Given the description of an element on the screen output the (x, y) to click on. 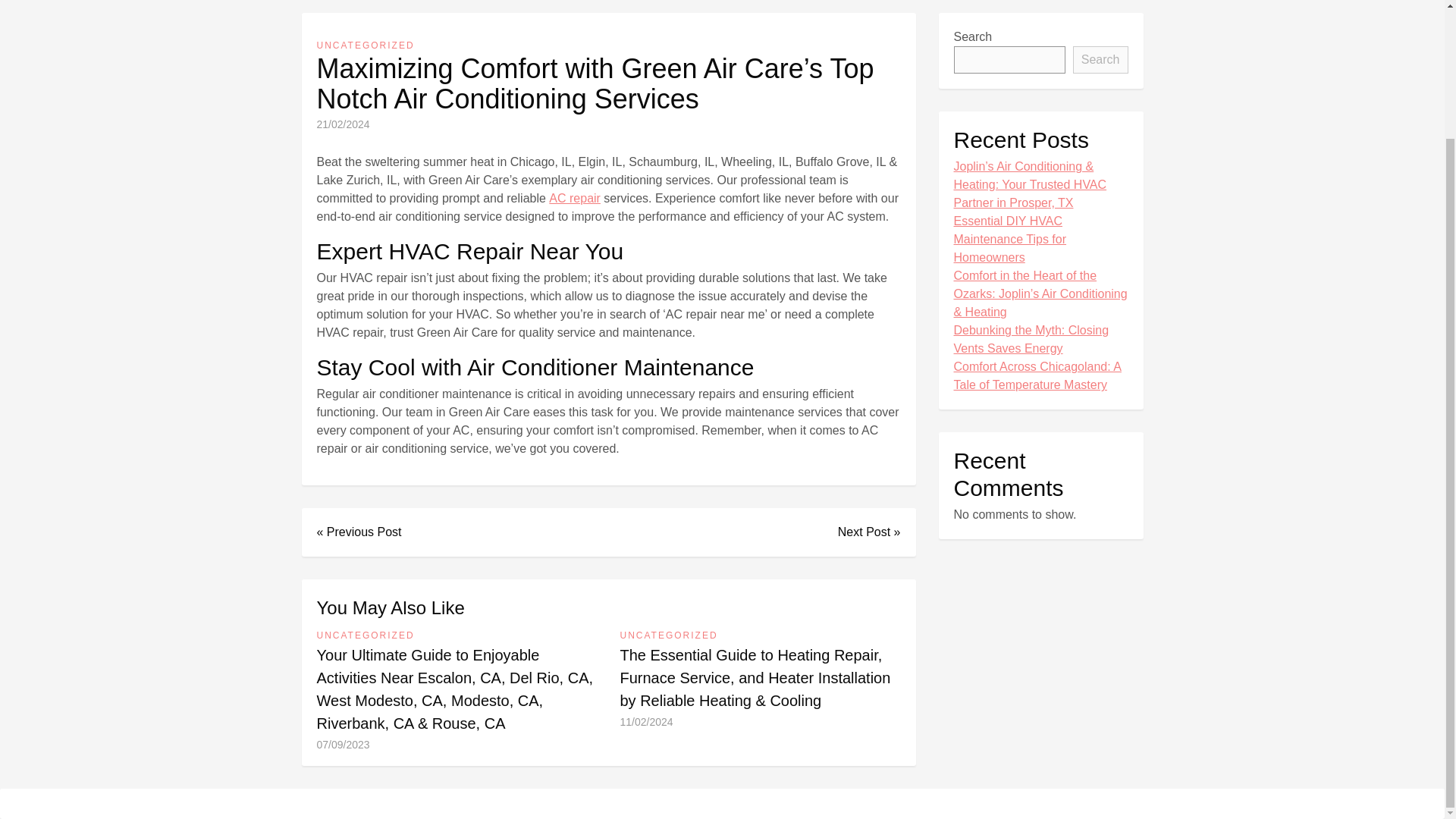
UNCATEGORIZED (365, 45)
UNCATEGORIZED (365, 635)
AC repair (573, 198)
Search (1100, 59)
Essential DIY HVAC Maintenance Tips for Homeowners (1040, 239)
Debunking the Myth: Closing Vents Saves Energy (1040, 339)
Comfort Across Chicagoland: A Tale of Temperature Mastery (1040, 375)
UNCATEGORIZED (668, 635)
